Given the description of an element on the screen output the (x, y) to click on. 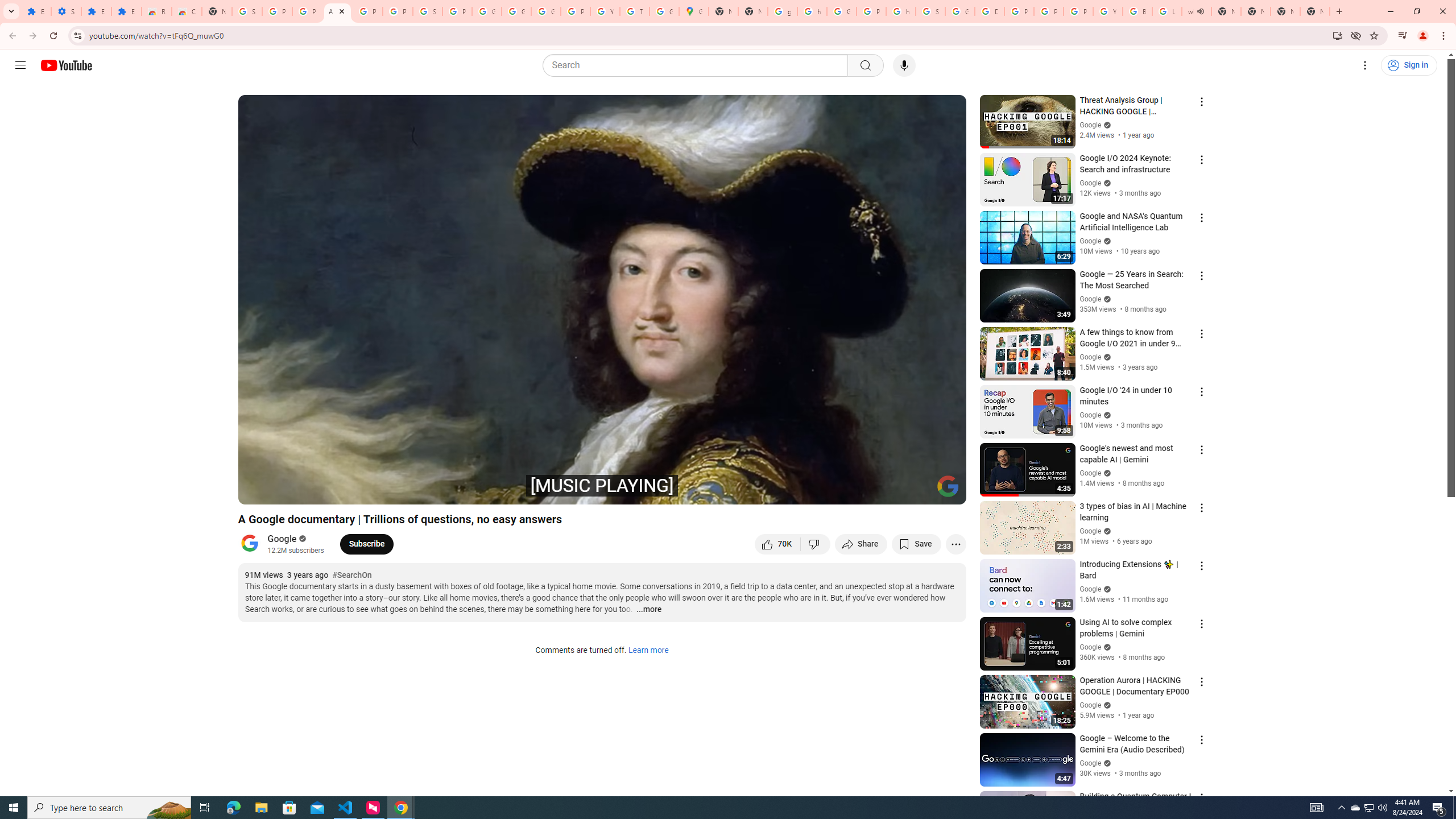
Privacy Help Center - Policies Help (1048, 11)
YouTube (1107, 11)
YouTube (604, 11)
Search with your voice (903, 65)
YouTube Home (66, 65)
